Given the description of an element on the screen output the (x, y) to click on. 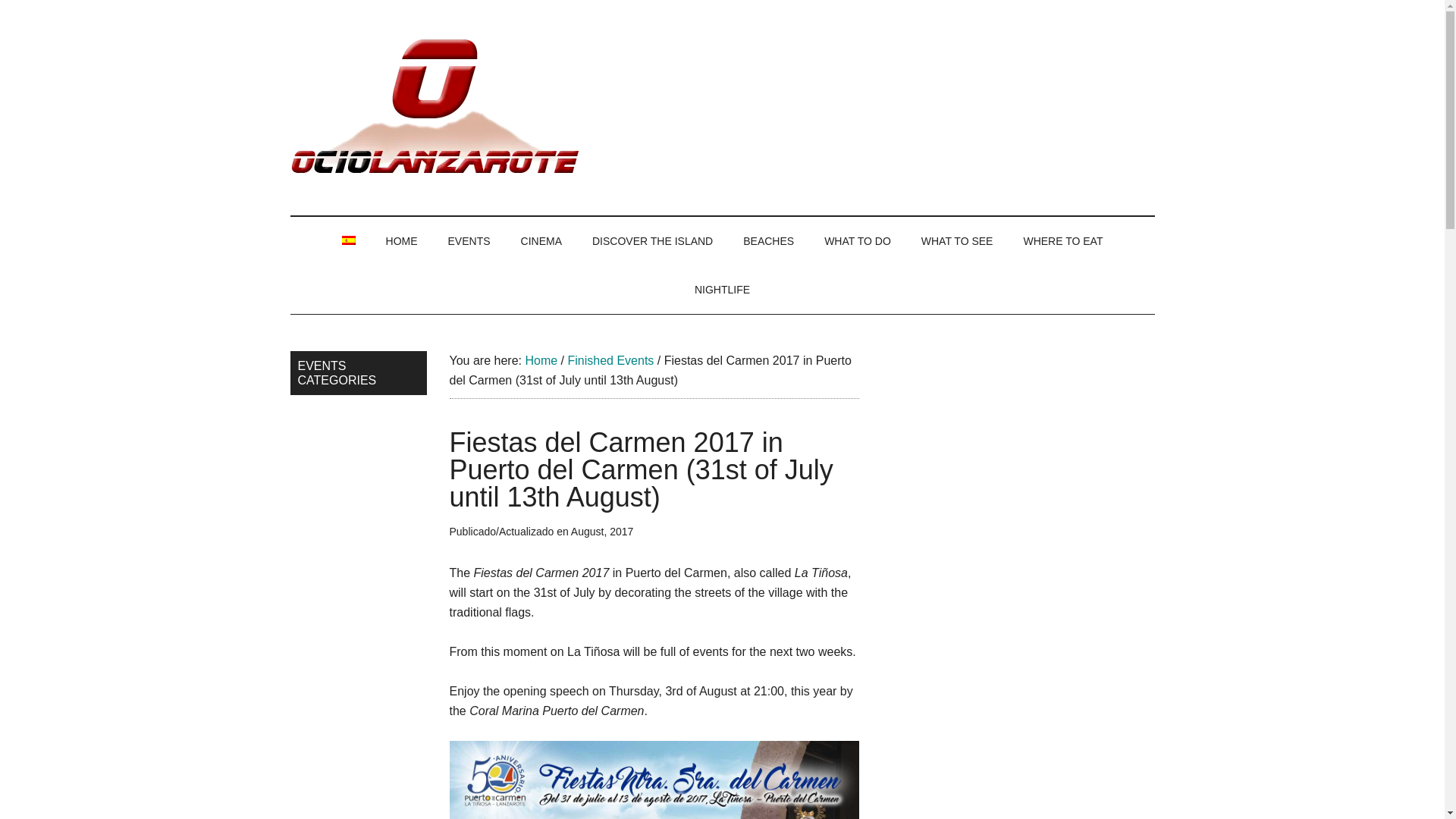
BEACHES (768, 241)
WHAT TO DO (857, 241)
EVENTS (468, 241)
DISCOVER THE ISLAND (652, 241)
HOME (401, 241)
WHAT TO SEE (957, 241)
CINEMA (540, 241)
